Given the description of an element on the screen output the (x, y) to click on. 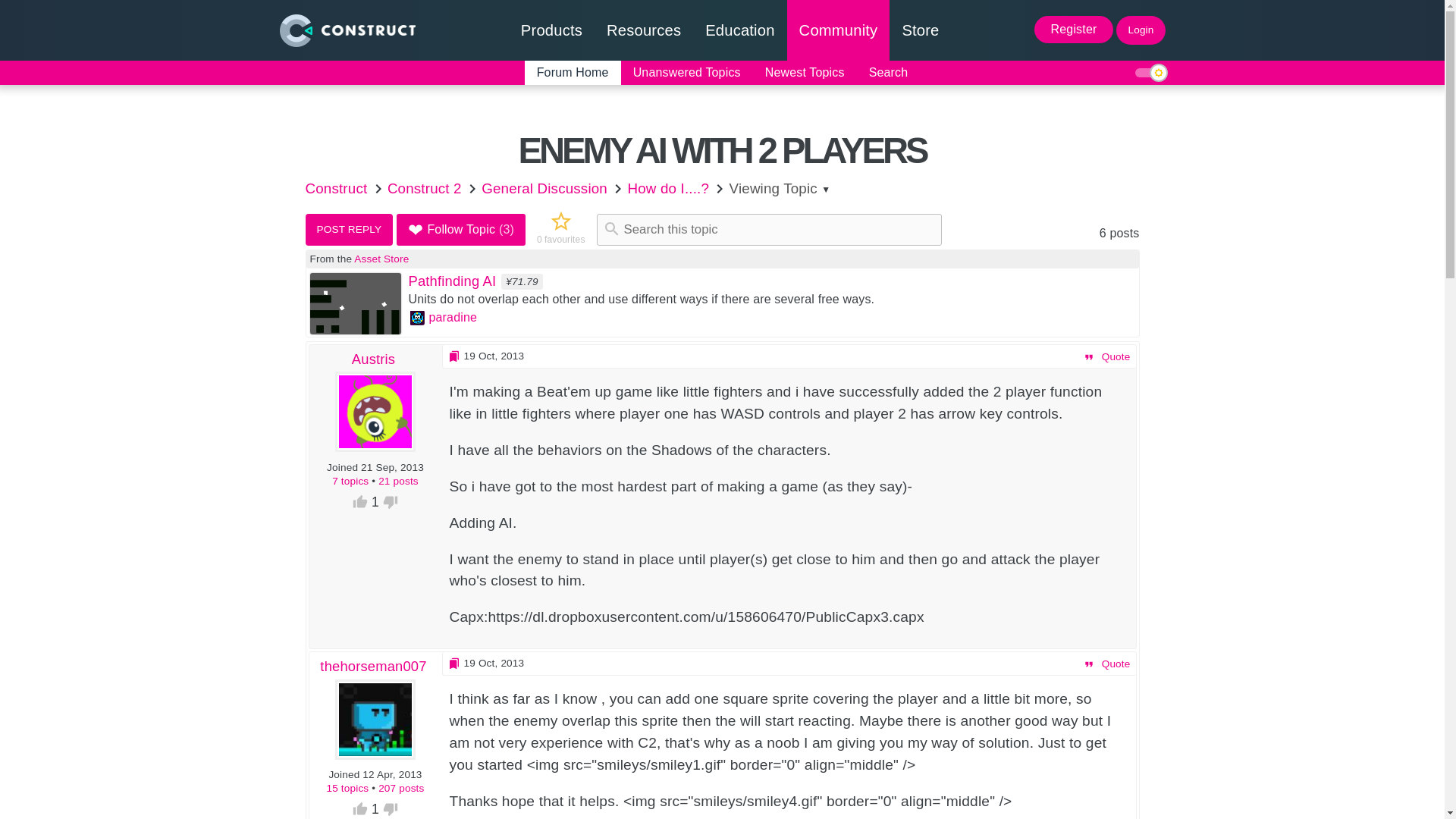
Tutorials and manual (643, 30)
Game maker (551, 30)
Resources (643, 30)
Education (739, 30)
Construct homepage (346, 30)
Products (551, 30)
